Given the description of an element on the screen output the (x, y) to click on. 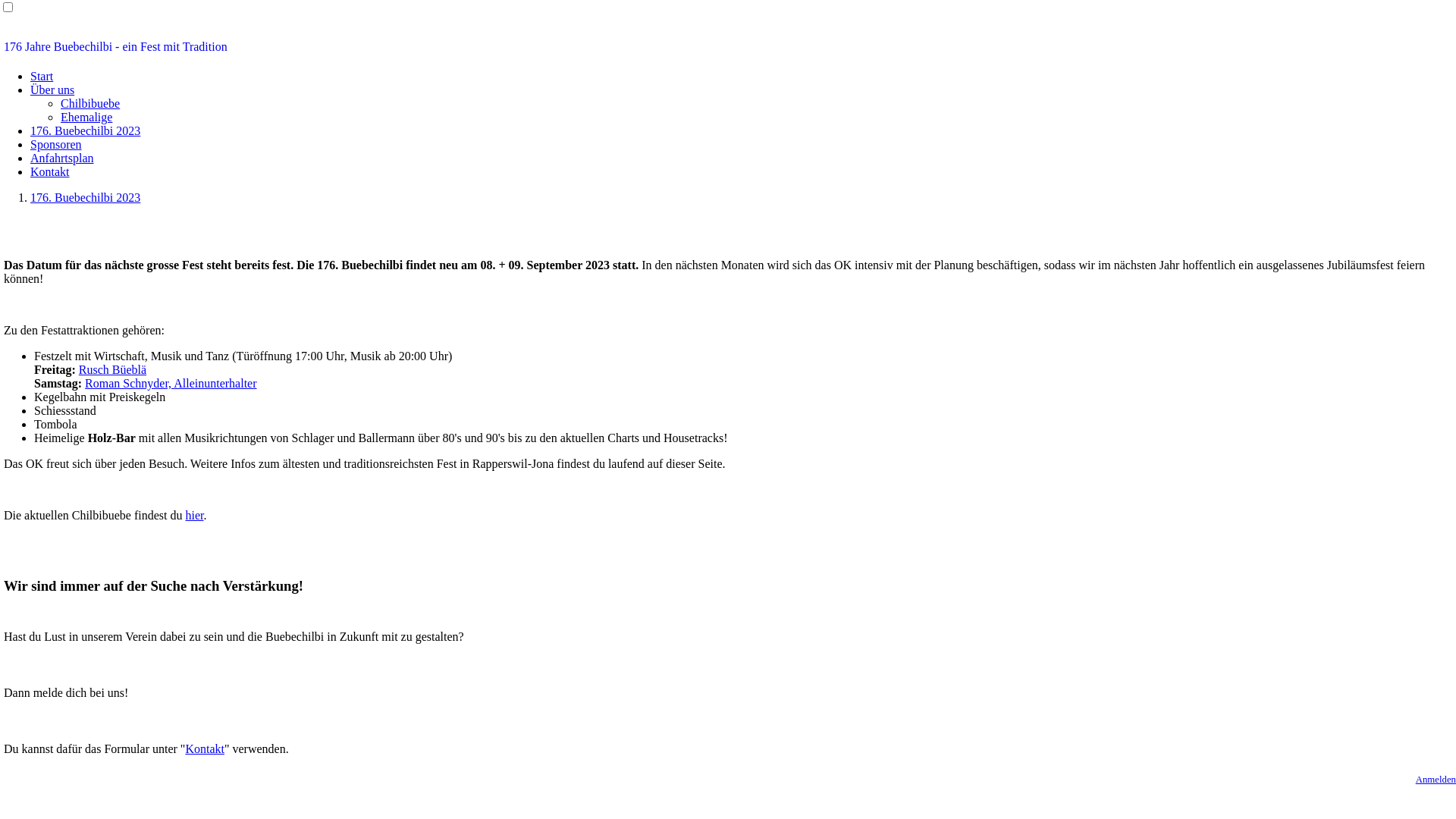
176 Jahre Buebechilbi - ein Fest mit Tradition Element type: text (727, 46)
Sponsoren Element type: text (55, 144)
176. Buebechilbi 2023 Element type: text (85, 197)
176. Buebechilbi 2023 Element type: text (85, 130)
Start Element type: text (41, 75)
Ehemalige Element type: text (86, 116)
Kontakt Element type: text (49, 171)
Roman Schnyder, Alleinunterhalter Element type: text (170, 382)
Kontakt Element type: text (204, 748)
hier Element type: text (194, 514)
Chilbibuebe Element type: text (89, 103)
Anfahrtsplan Element type: text (62, 157)
